Given the description of an element on the screen output the (x, y) to click on. 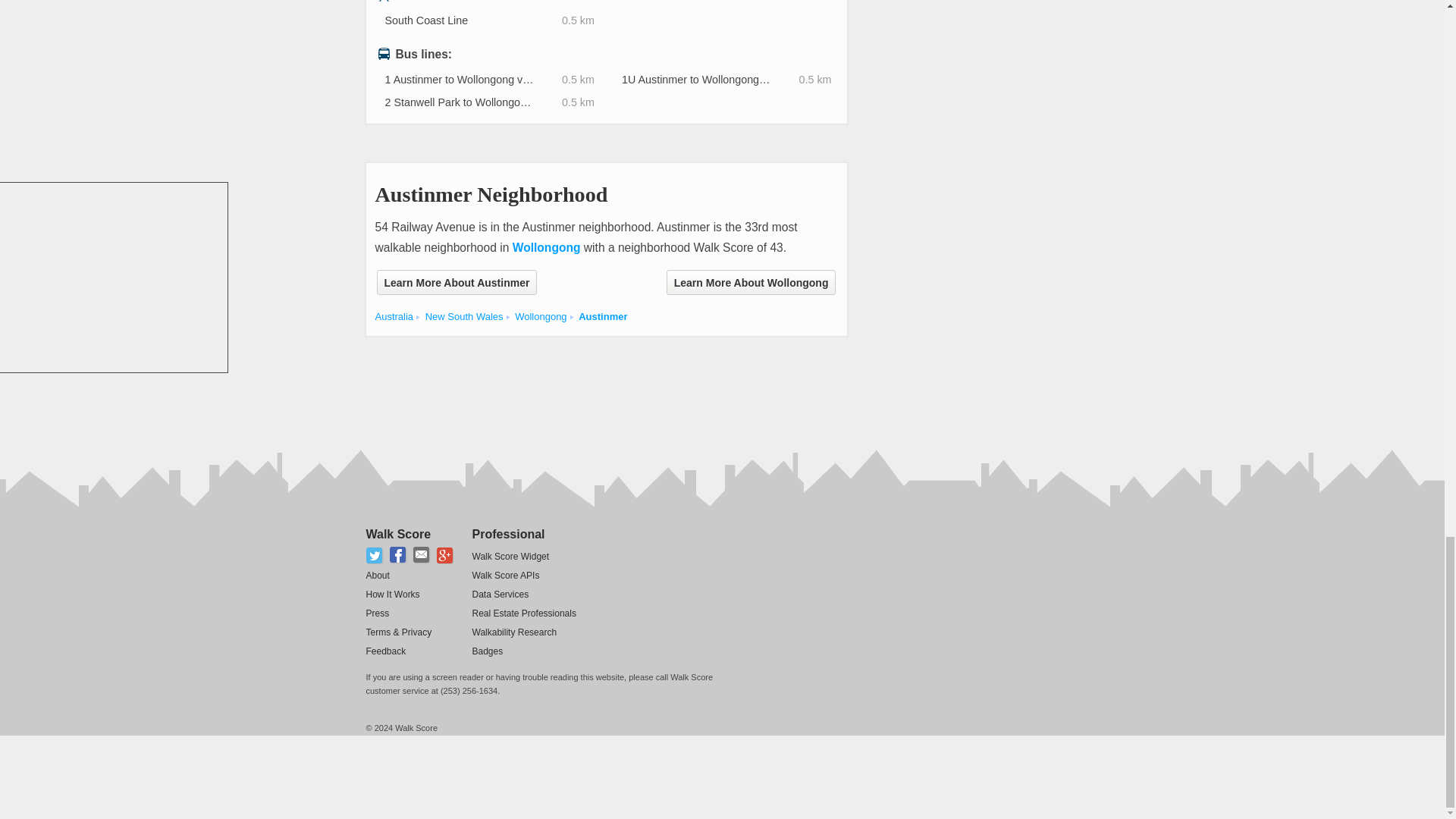
Cities in New South Wales state (464, 316)
Wollongong (546, 246)
Learn More About Wollongong (750, 282)
Learn More About Austinmer (456, 282)
3rd party ad content (641, 385)
Australia Walkability Rankings (393, 316)
